Given the description of an element on the screen output the (x, y) to click on. 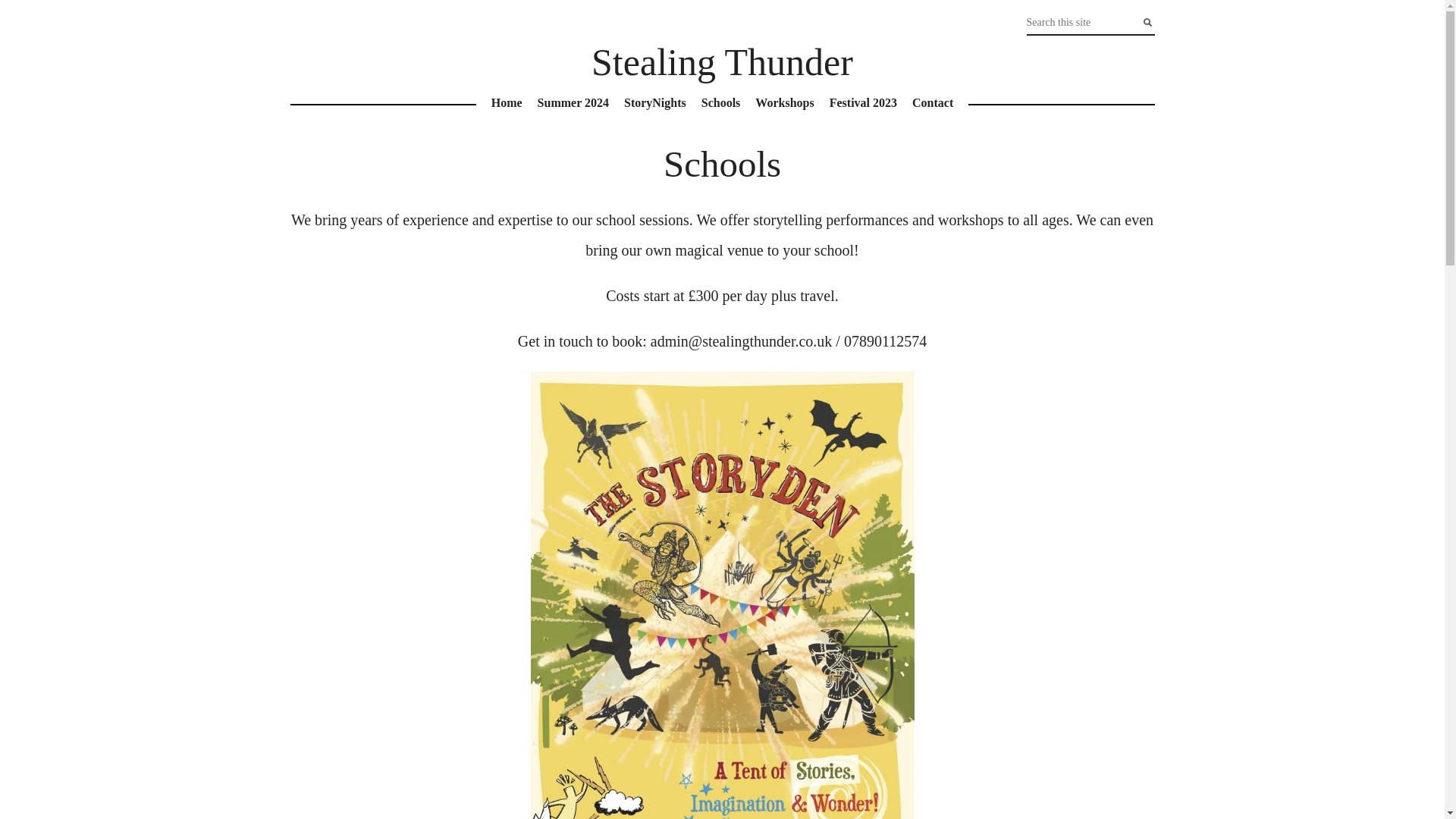
Summer 2024 (572, 102)
Schools (721, 102)
StoryNights (654, 102)
Workshops (784, 102)
Home (506, 102)
Stealing Thunder (722, 61)
Schools (721, 164)
Festival 2023 (863, 102)
